Given the description of an element on the screen output the (x, y) to click on. 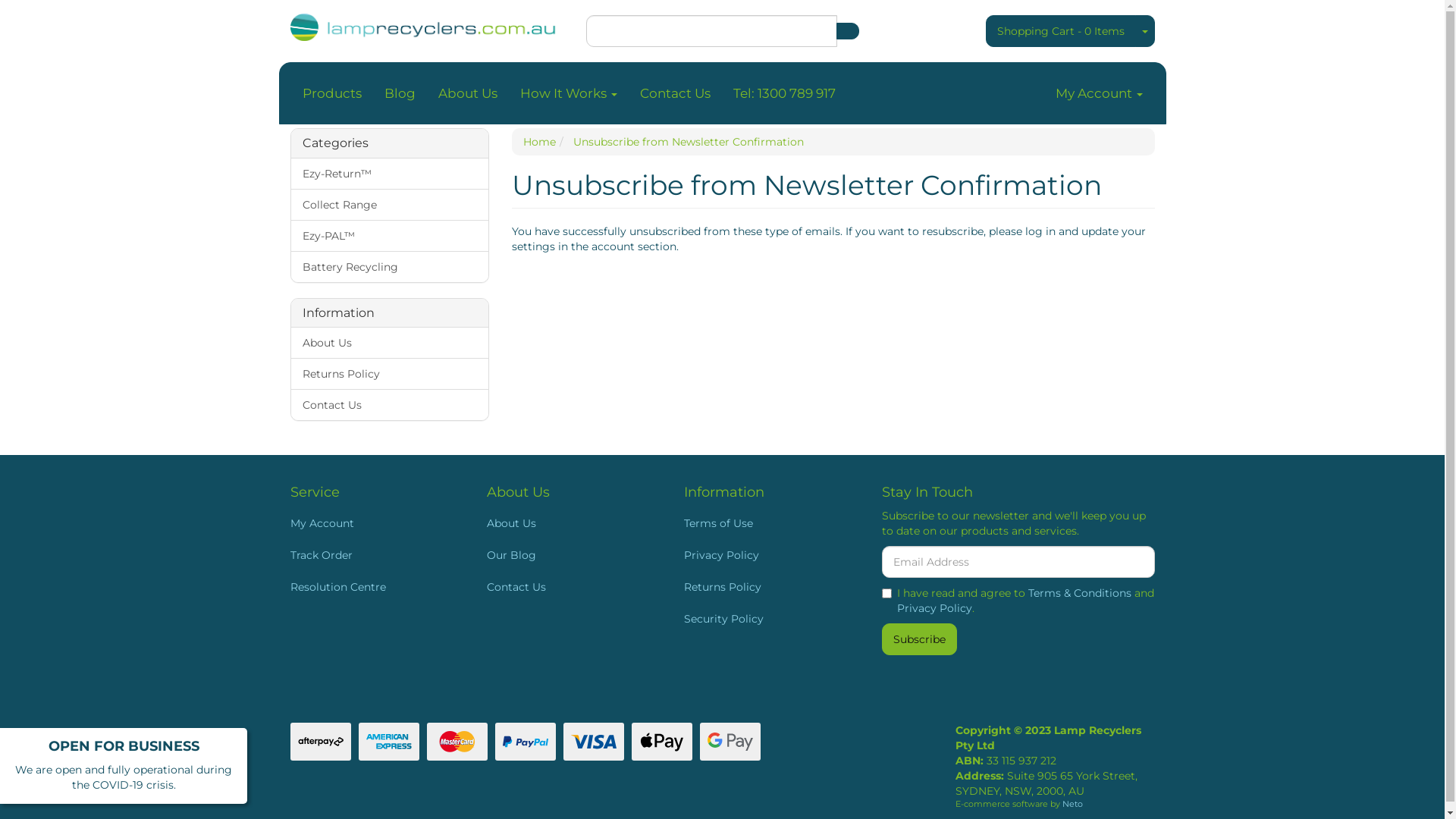
Security Policy Element type: text (765, 618)
Privacy Policy Element type: text (765, 554)
Resolution Centre Element type: text (371, 586)
About Us Element type: text (467, 92)
Terms & Conditions Element type: text (1079, 592)
Terms of Use Element type: text (765, 523)
Tel: 1300 789 917 Element type: text (784, 92)
About Us Element type: text (390, 342)
Search Element type: text (846, 30)
Collect Range Element type: text (390, 203)
Home Element type: text (539, 141)
Shopping Cart - 0 Items Element type: text (1060, 31)
Battery Recycling Element type: text (390, 266)
Returns Policy Element type: text (390, 373)
Our Blog Element type: text (568, 554)
Products Element type: text (332, 92)
Lamp Recyclers Pty Ltd Element type: hover (425, 22)
My Account Element type: text (1098, 92)
How It Works Element type: text (567, 92)
Blog Element type: text (399, 92)
About Us Element type: text (568, 523)
Subscribe Element type: text (918, 639)
Contact Us Element type: text (674, 92)
Returns Policy Element type: text (765, 586)
Neto Element type: text (1072, 803)
Track Order Element type: text (371, 554)
My Account Element type: text (371, 523)
Unsubscribe from Newsletter Confirmation Element type: text (688, 141)
Privacy Policy Element type: text (933, 608)
Contact Us Element type: text (390, 404)
Contact Us Element type: text (568, 586)
